Given the description of an element on the screen output the (x, y) to click on. 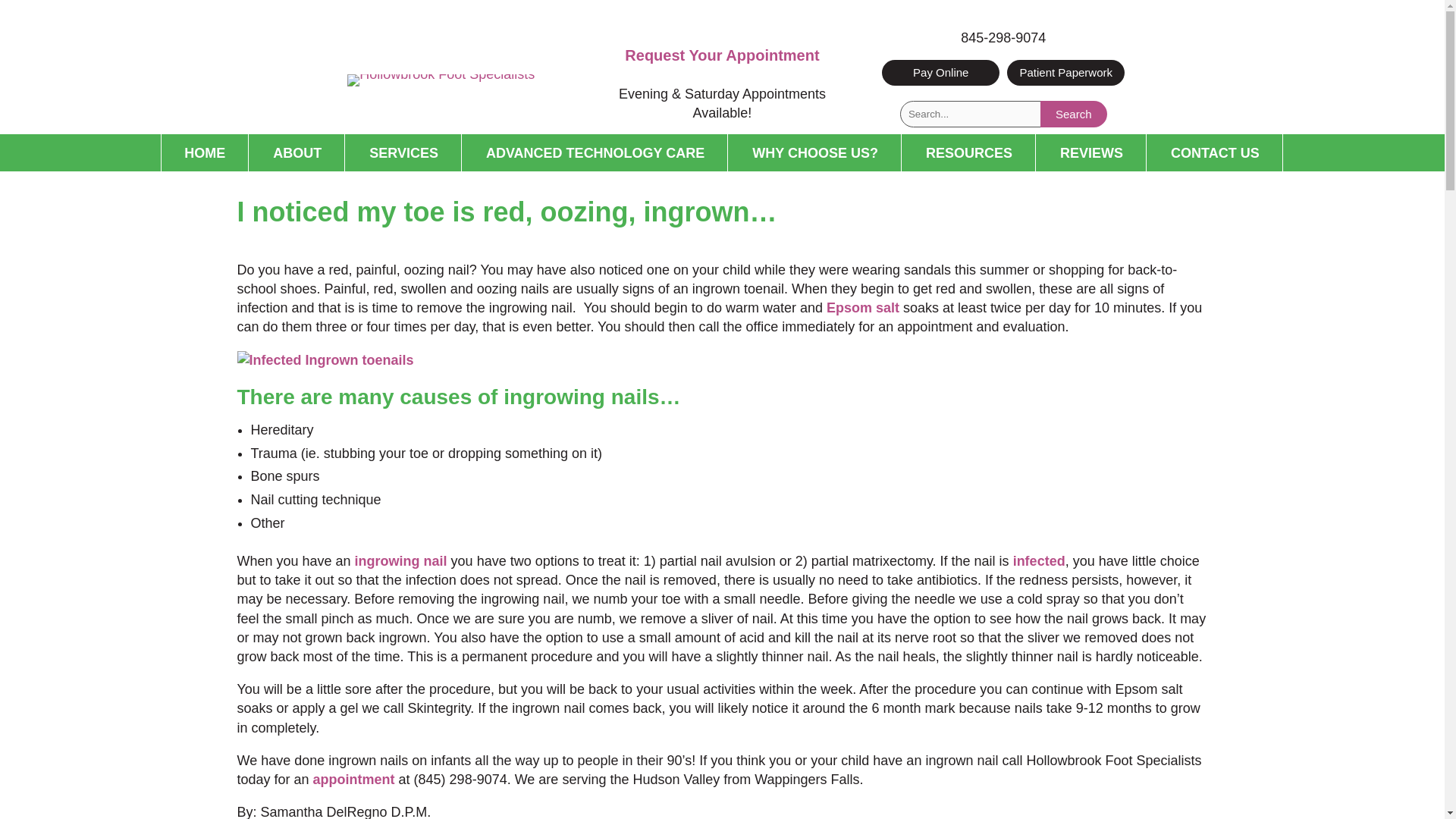
ABOUT (296, 152)
Pay Online (940, 72)
Search (1073, 113)
HOME (204, 152)
Patient Paperwork (1065, 72)
845-298-9074 (1002, 37)
Request Your Appointment (722, 54)
SERVICES (403, 152)
